Given the description of an element on the screen output the (x, y) to click on. 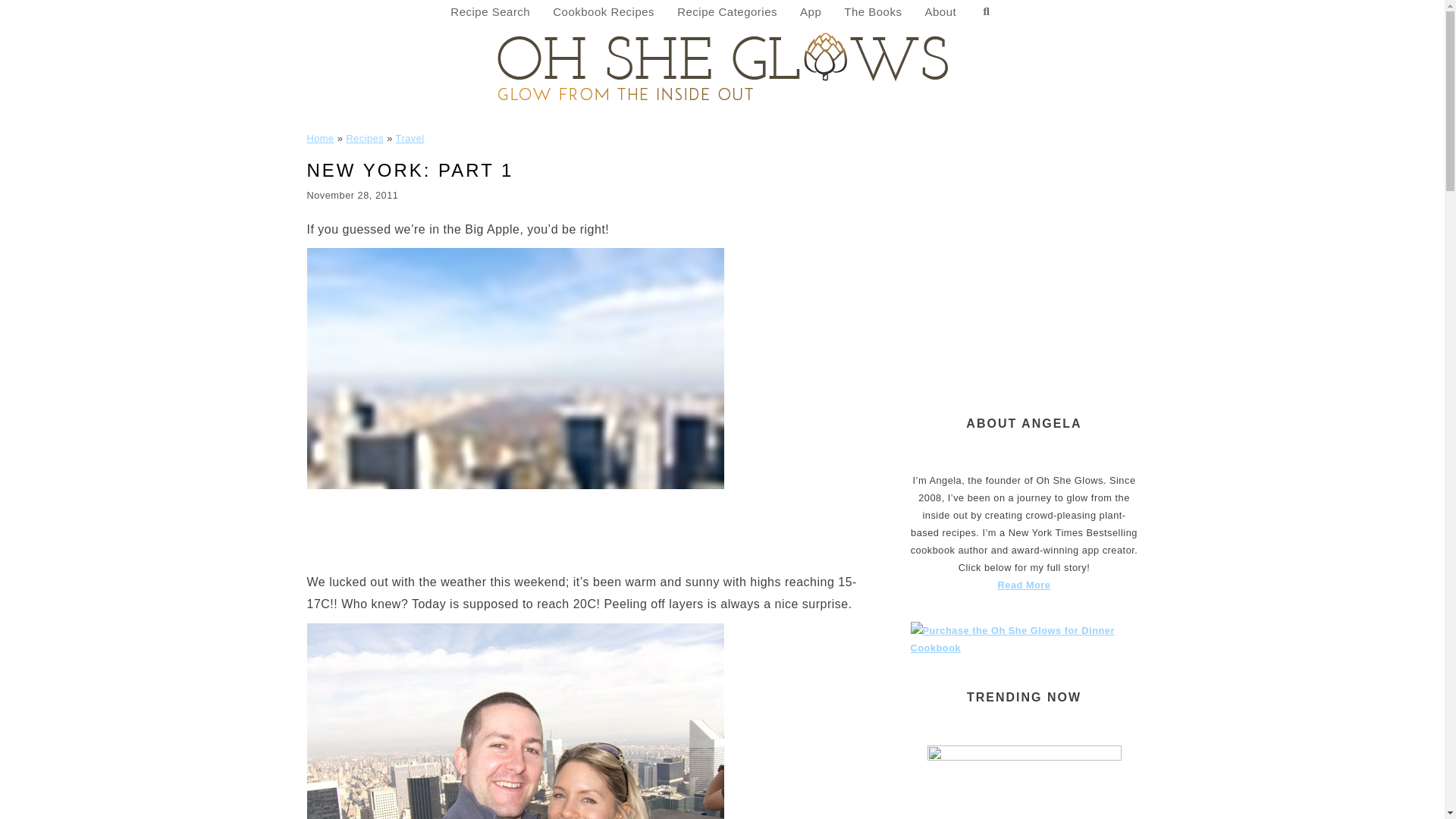
Recipes (365, 138)
Oh She Glows (722, 65)
Search (986, 11)
Recipe Search (490, 11)
App (810, 11)
About (940, 11)
Cookbook Recipes (603, 11)
Travel (410, 138)
The Books (872, 11)
Recipe Categories (727, 11)
